Given the description of an element on the screen output the (x, y) to click on. 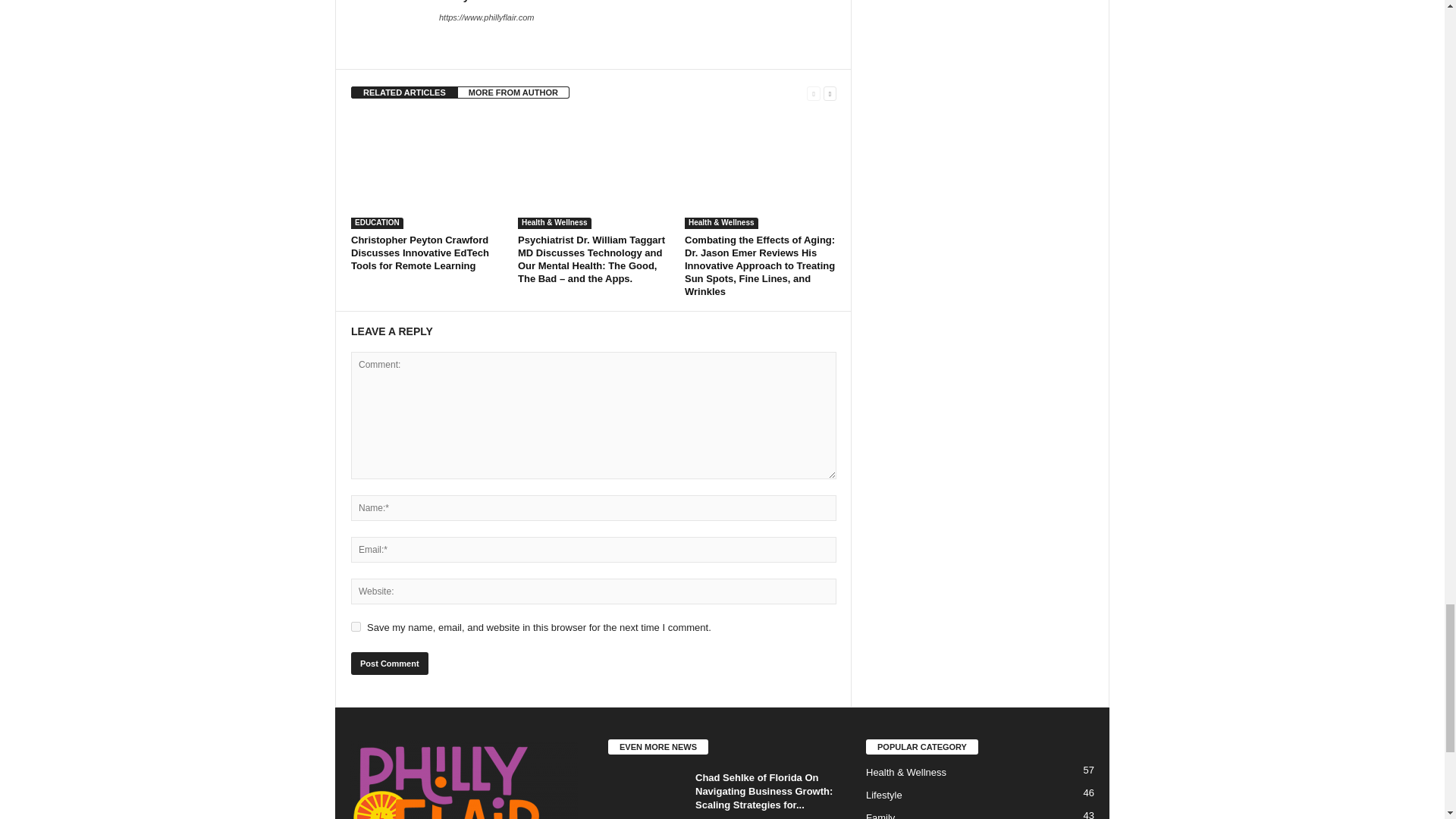
yes (355, 626)
Post Comment (389, 662)
